Given the description of an element on the screen output the (x, y) to click on. 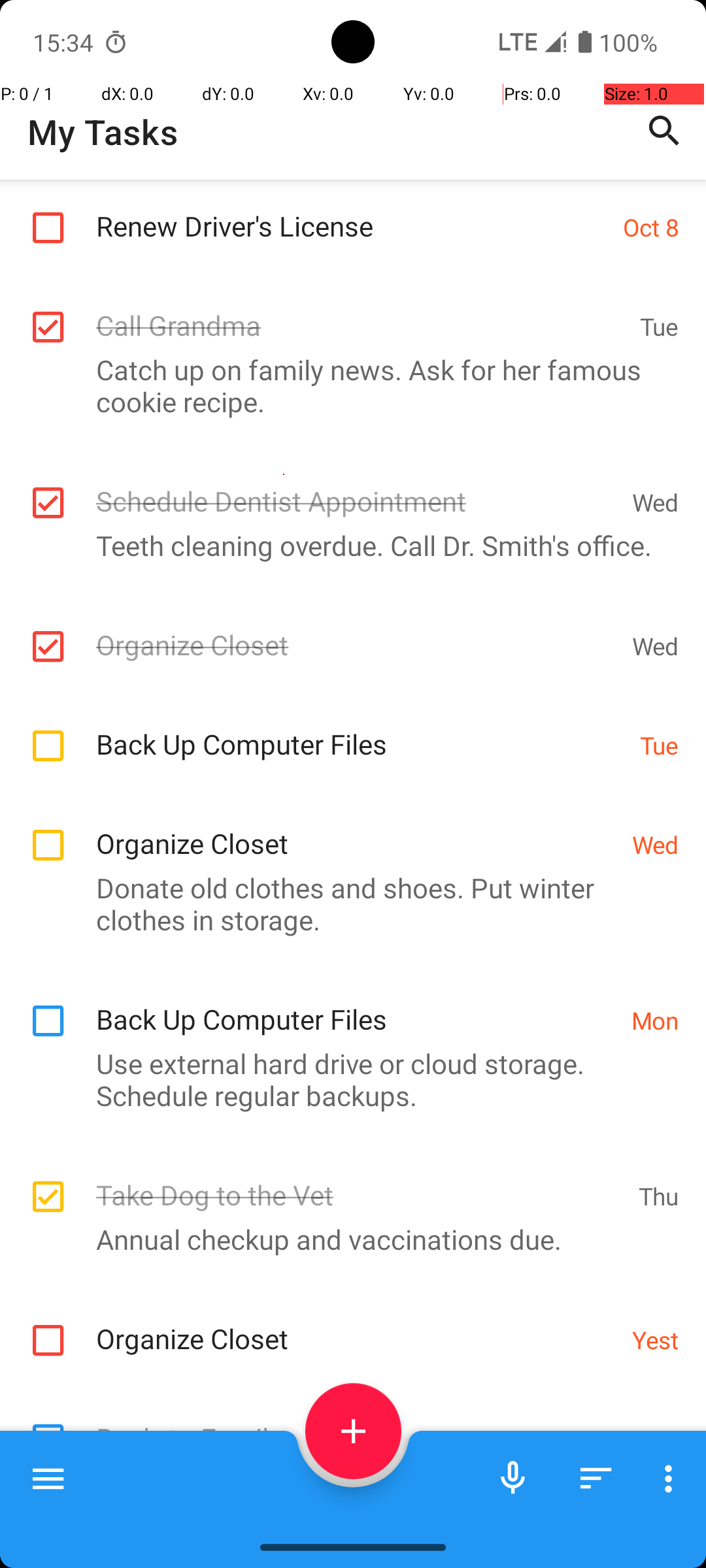
Catch up on family news. Ask for her famous cookie recipe. Element type: android.widget.TextView (346, 385)
Teeth cleaning overdue. Call Dr. Smith's office. Element type: android.widget.TextView (346, 544)
Donate old clothes and shoes. Put winter clothes in storage. Element type: android.widget.TextView (346, 903)
Use external hard drive or cloud storage. Schedule regular backups. Element type: android.widget.TextView (346, 1078)
Annual checkup and vaccinations due. Element type: android.widget.TextView (346, 1238)
